Given the description of an element on the screen output the (x, y) to click on. 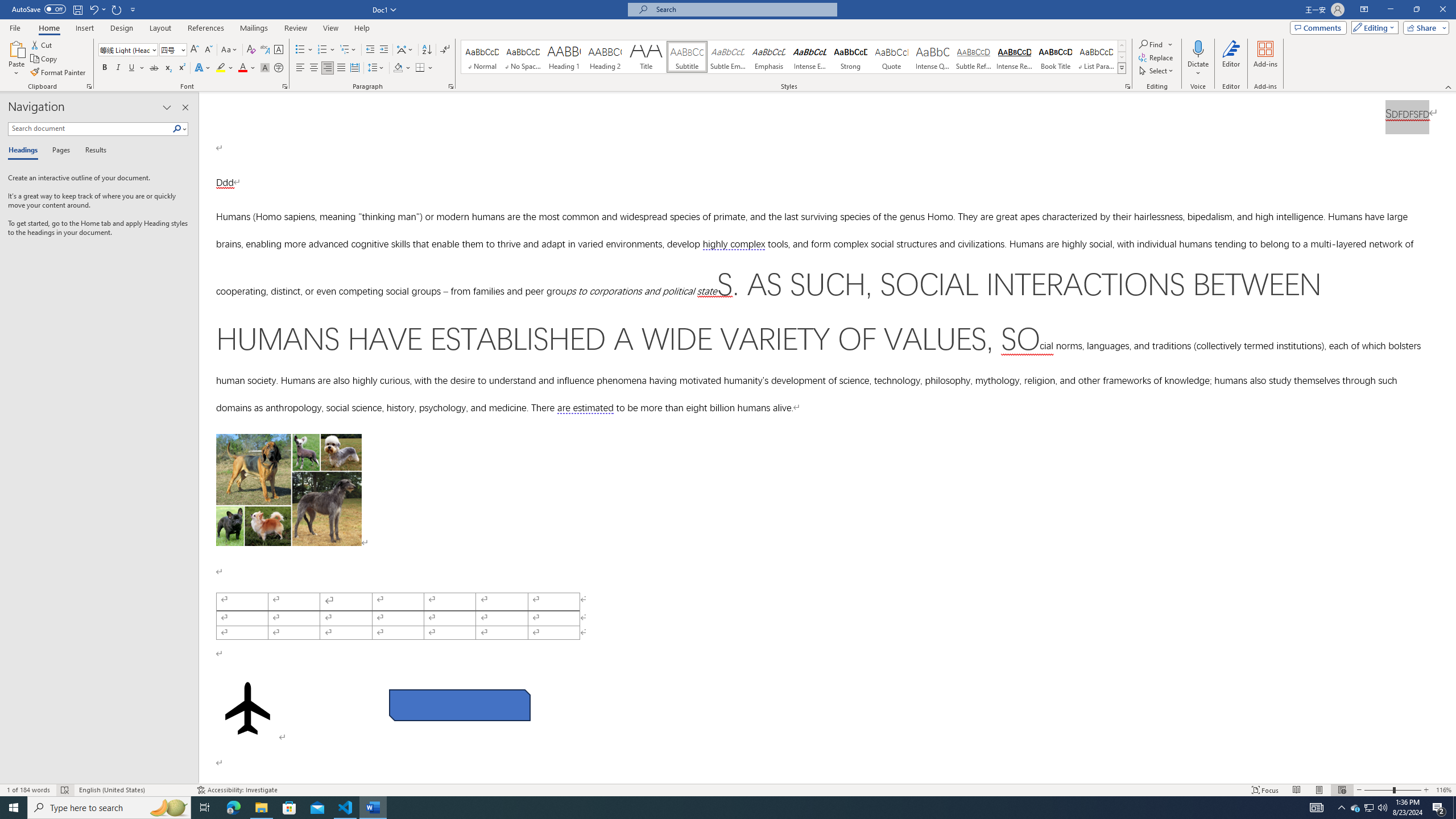
Paragraph... (450, 85)
Line and Paragraph Spacing (376, 67)
Repeat Paragraph Alignment (117, 9)
Accessibility Checker Accessibility: Investigate (237, 790)
Undo Paragraph Alignment (92, 9)
Subtle Emphasis (727, 56)
Language English (United States) (132, 790)
Phonetic Guide... (264, 49)
Center (313, 67)
